Given the description of an element on the screen output the (x, y) to click on. 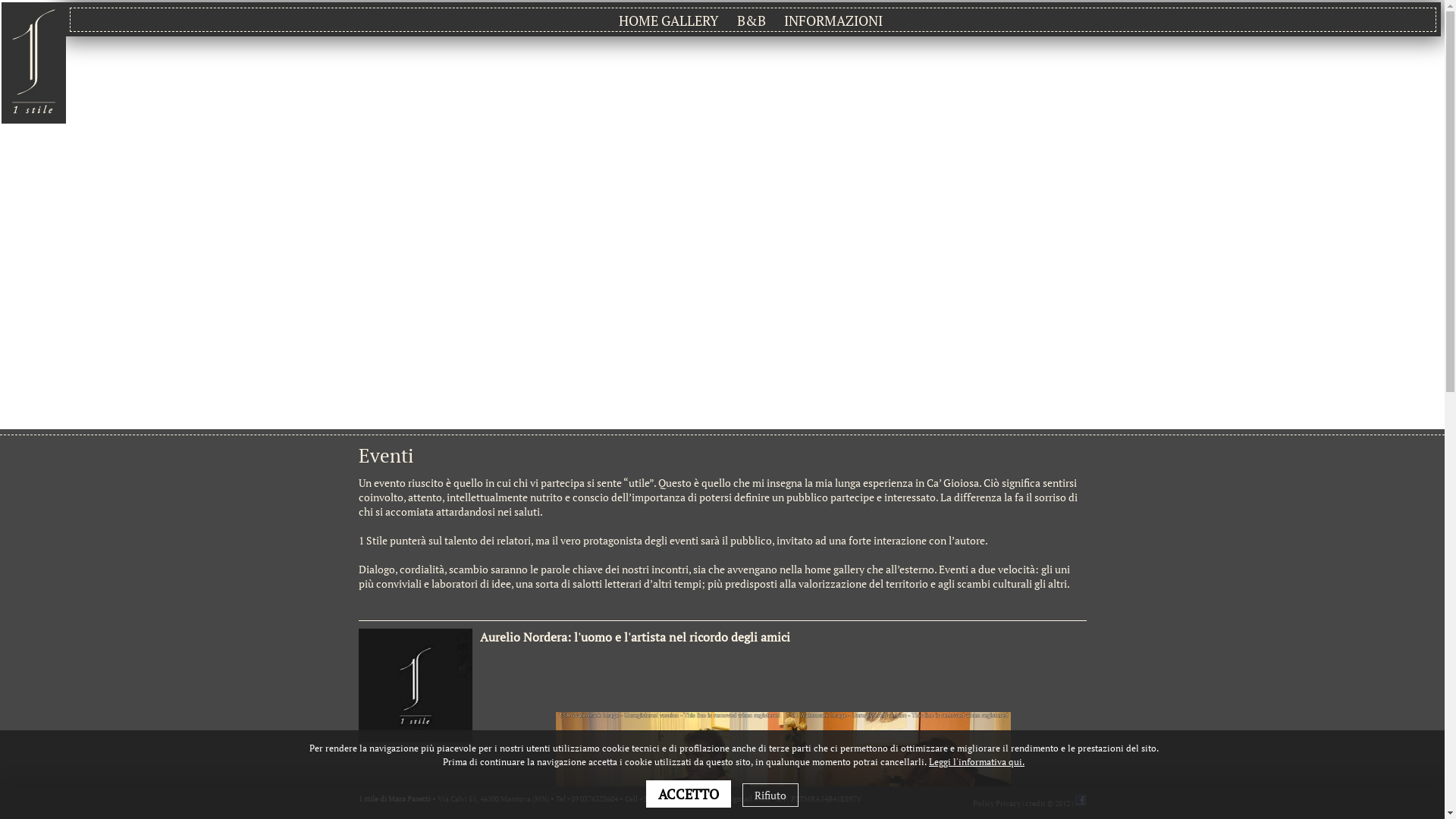
B&B Element type: text (751, 20)
Rifiuto Element type: text (770, 794)
HOME GALLERY Element type: text (668, 20)
Policy Privacy Element type: text (995, 803)
INFORMAZIONI Element type: text (833, 20)
ACCETTO Element type: text (688, 793)
Leggi l'informativa qui. Element type: text (976, 761)
